Given the description of an element on the screen output the (x, y) to click on. 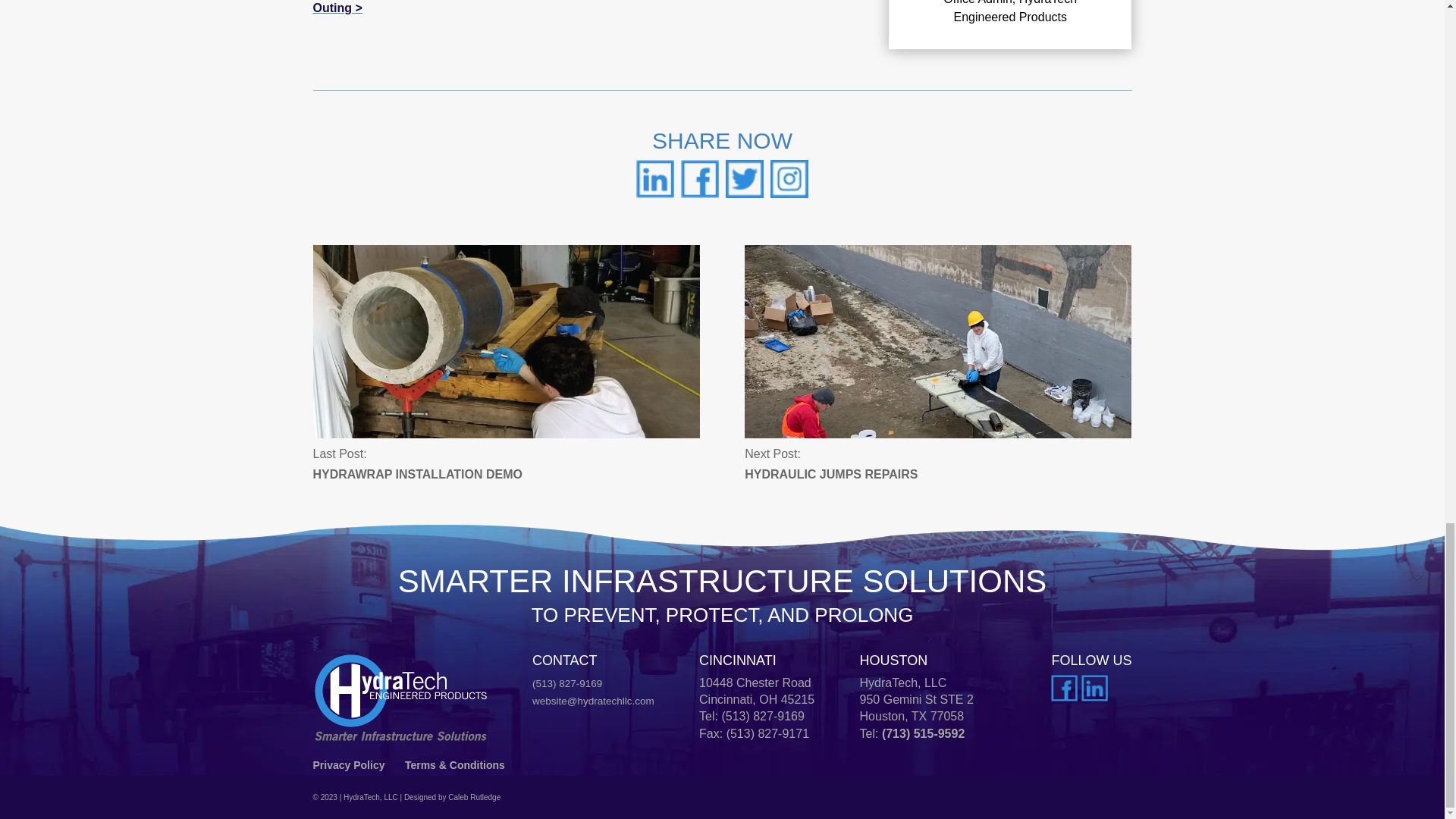
HydraWrap Demo Brushing Wet-Out (505, 340)
Header: Hydraulic Jumps Being Reinforced with HydraWrap (937, 340)
